Given the description of an element on the screen output the (x, y) to click on. 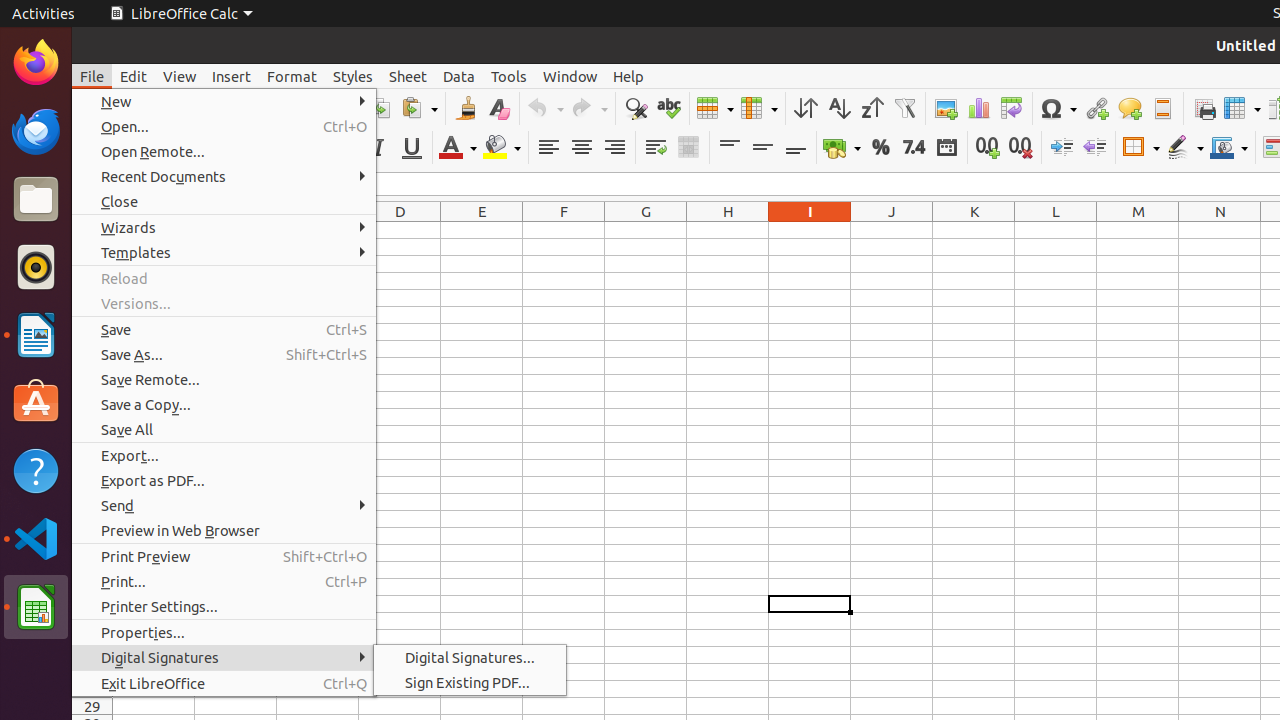
Versions... Element type: menu-item (224, 303)
Image Element type: push-button (945, 108)
Paste Element type: push-button (419, 108)
Pivot Table Element type: push-button (1011, 108)
J1 Element type: table-cell (892, 230)
